Given the description of an element on the screen output the (x, y) to click on. 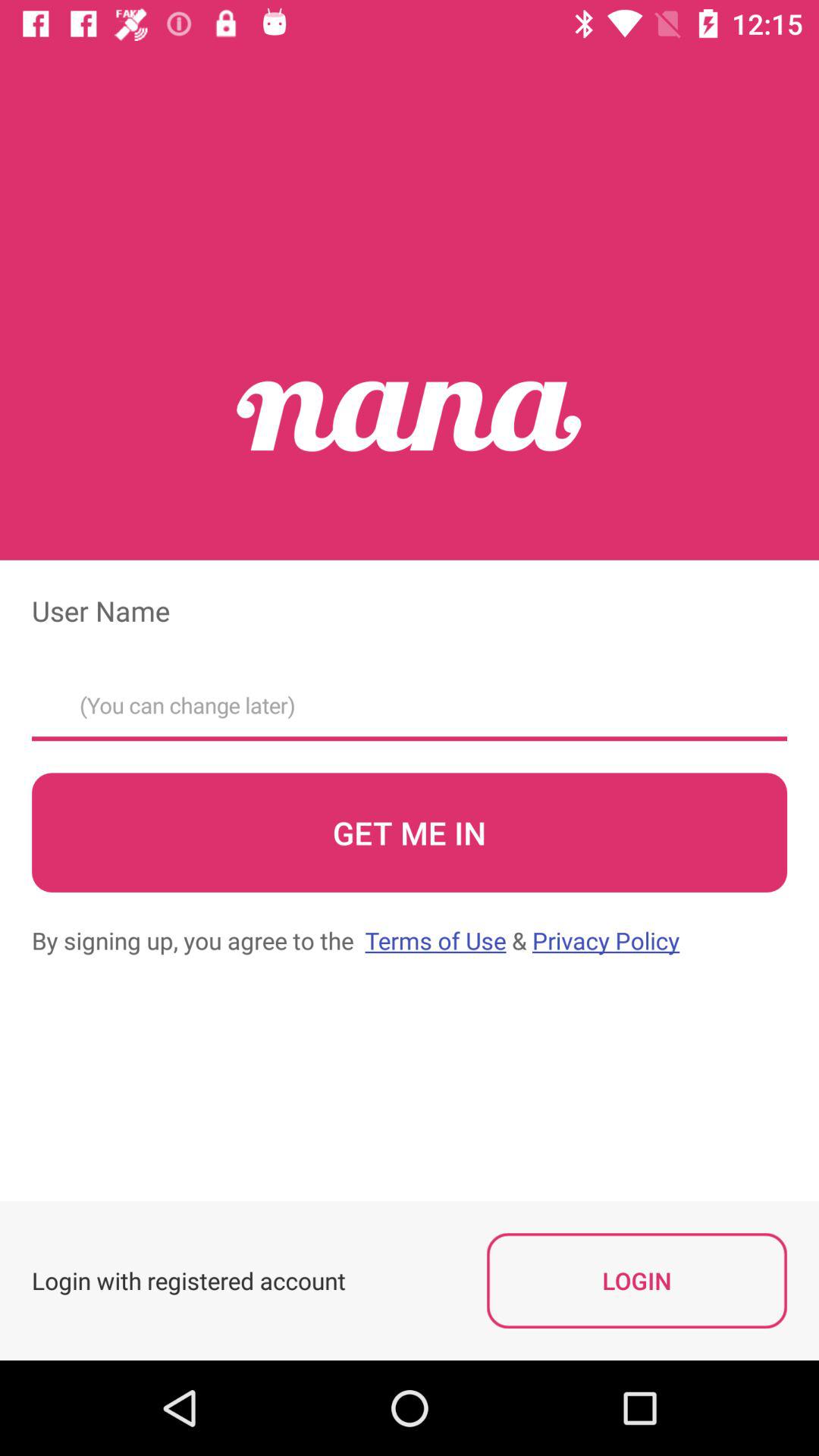
user name (409, 701)
